Given the description of an element on the screen output the (x, y) to click on. 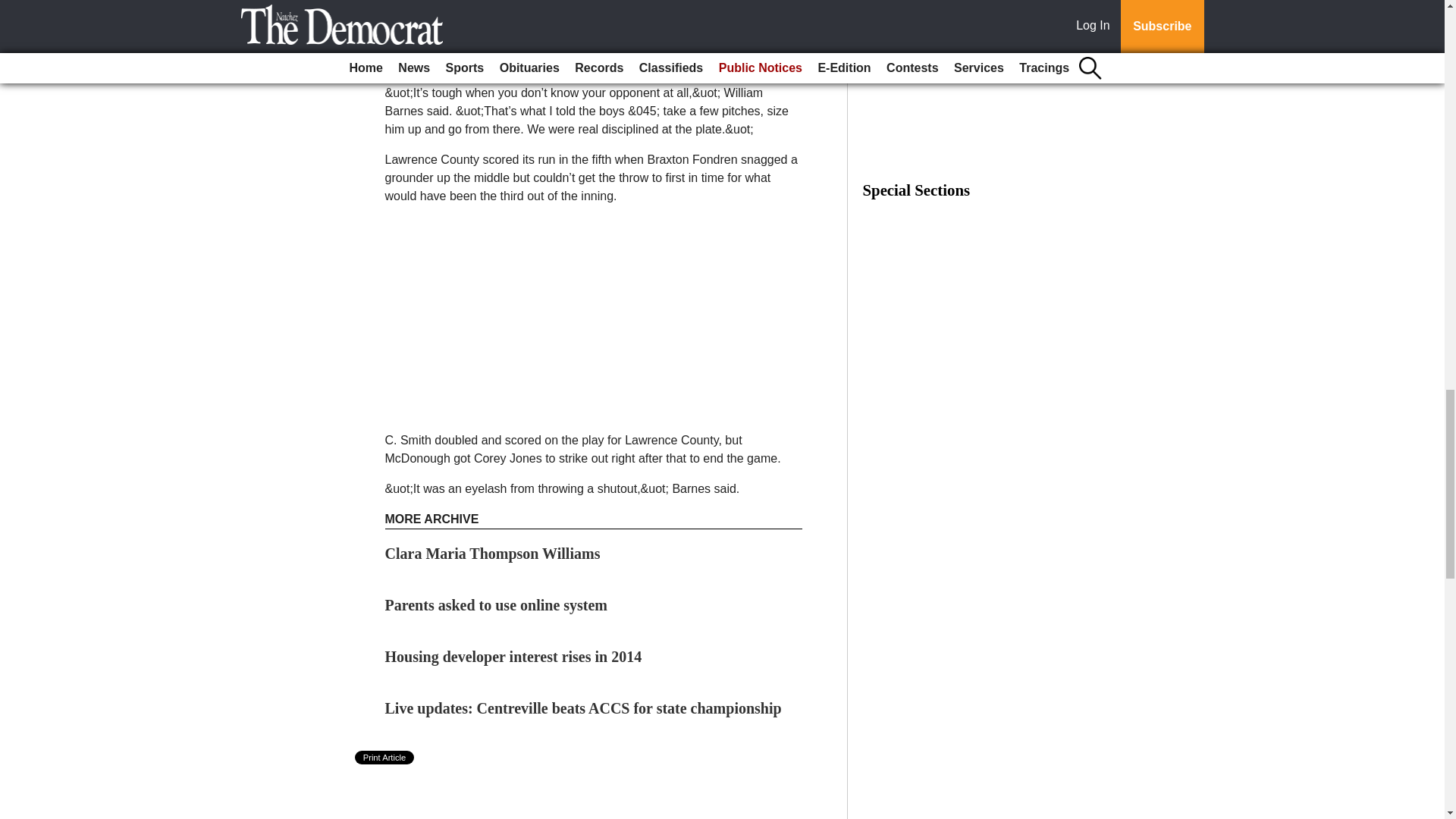
Housing developer interest rises in 2014 (513, 656)
Live updates: Centreville beats ACCS for state championship (583, 708)
Print Article (384, 757)
Parents asked to use online system (496, 605)
Parents asked to use online system (496, 605)
Clara Maria Thompson Williams (492, 553)
Live updates: Centreville beats ACCS for state championship (583, 708)
Clara Maria Thompson Williams (492, 553)
Housing developer interest rises in 2014 (513, 656)
